Given the description of an element on the screen output the (x, y) to click on. 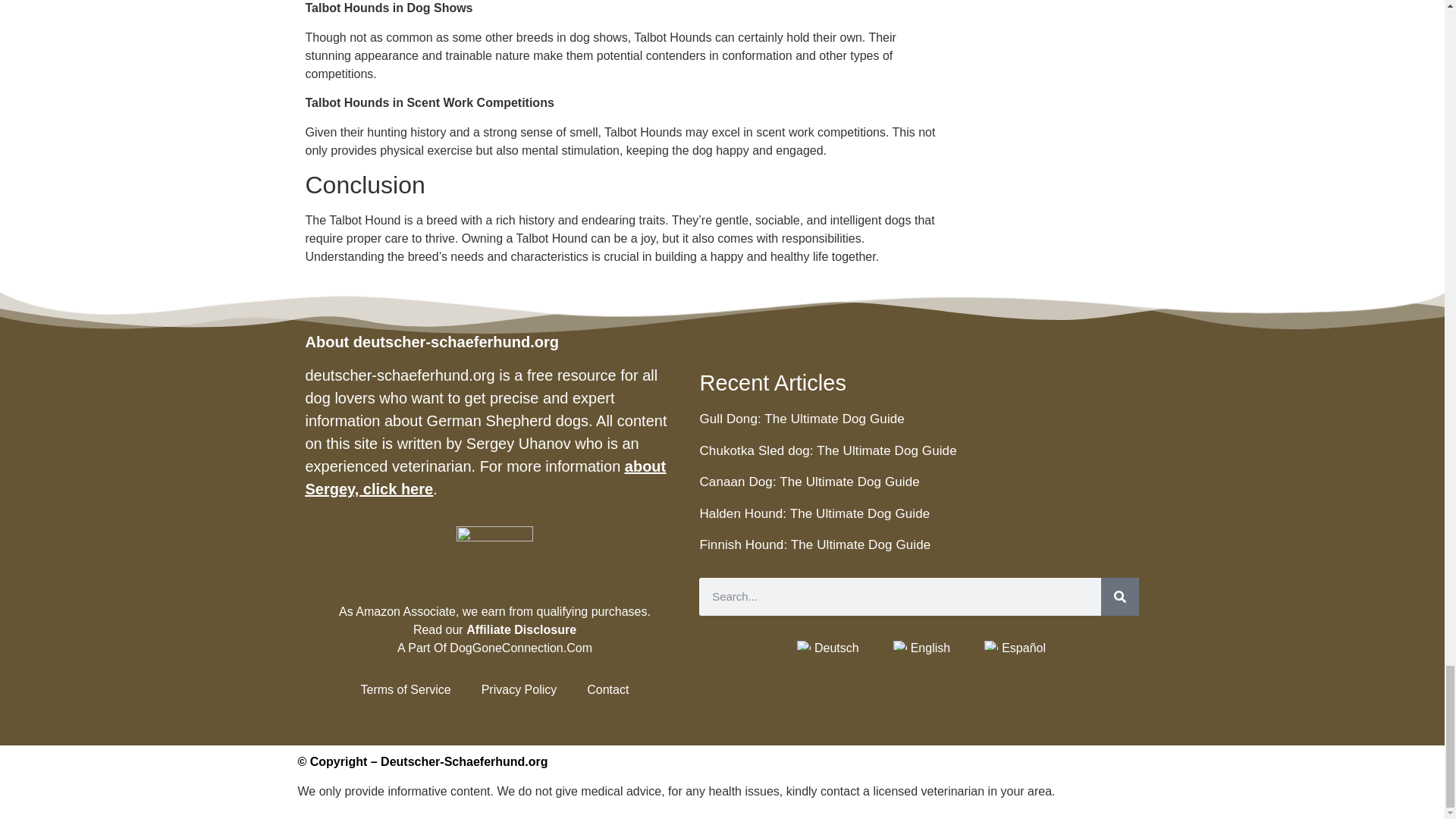
English (900, 645)
Deutsch (803, 645)
about Sergey, click here (484, 477)
